Given the description of an element on the screen output the (x, y) to click on. 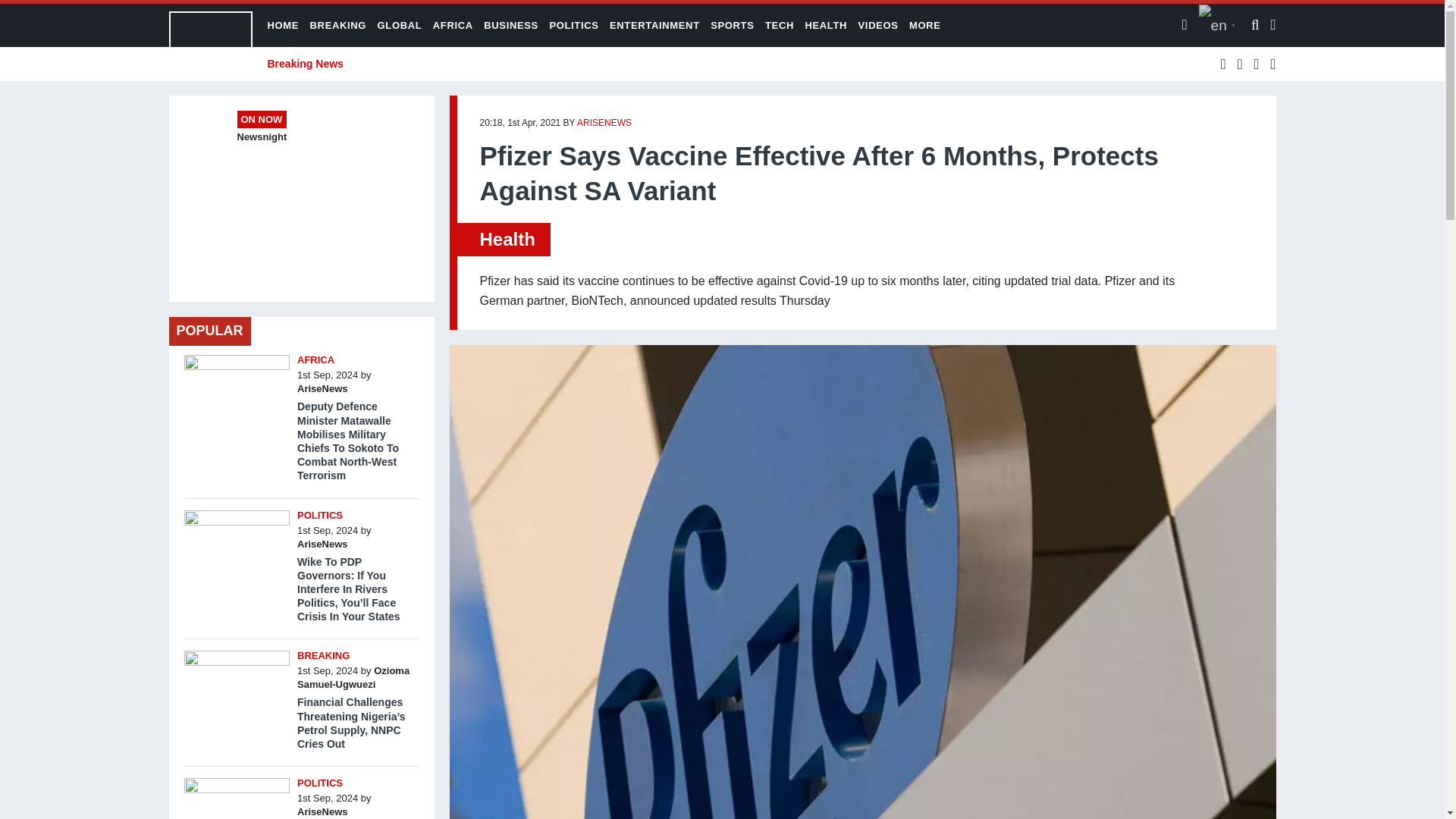
Arise News (209, 44)
TECH (779, 25)
Health (506, 239)
ENTERTAINMENT (655, 25)
BREAKING (338, 25)
POLITICS (573, 25)
Posts by AriseNews (603, 122)
HOME (282, 25)
ARISENEWS (603, 122)
BUSINESS (510, 25)
